Given the description of an element on the screen output the (x, y) to click on. 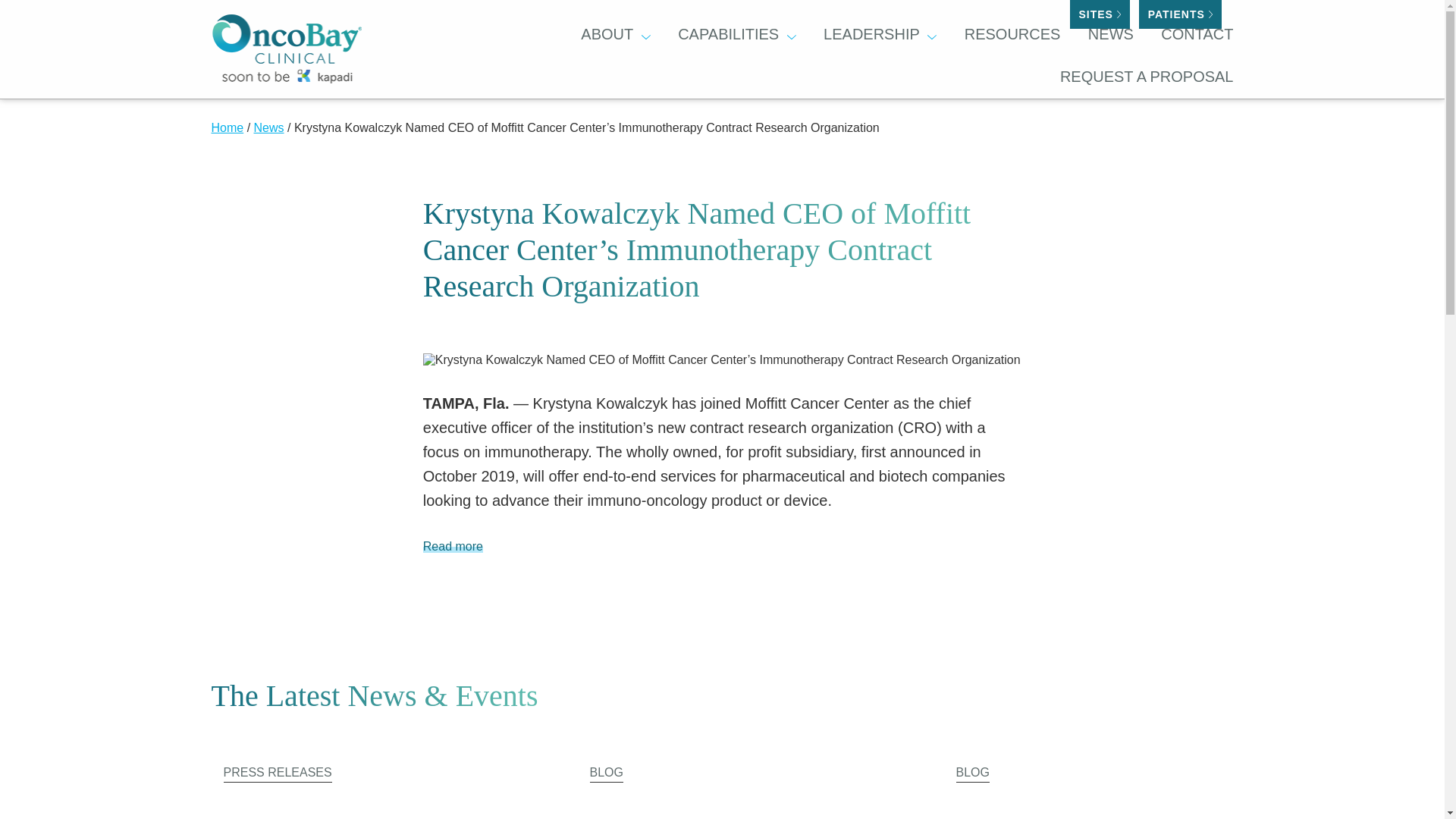
ABOUT (606, 34)
SITES (1099, 14)
PATIENTS (1179, 14)
Home (227, 127)
News (268, 127)
CAPABILITIES (728, 34)
REQUEST A PROPOSAL (1146, 77)
NEWS (1110, 34)
CONTACT (1196, 34)
Read more (453, 545)
